Given the description of an element on the screen output the (x, y) to click on. 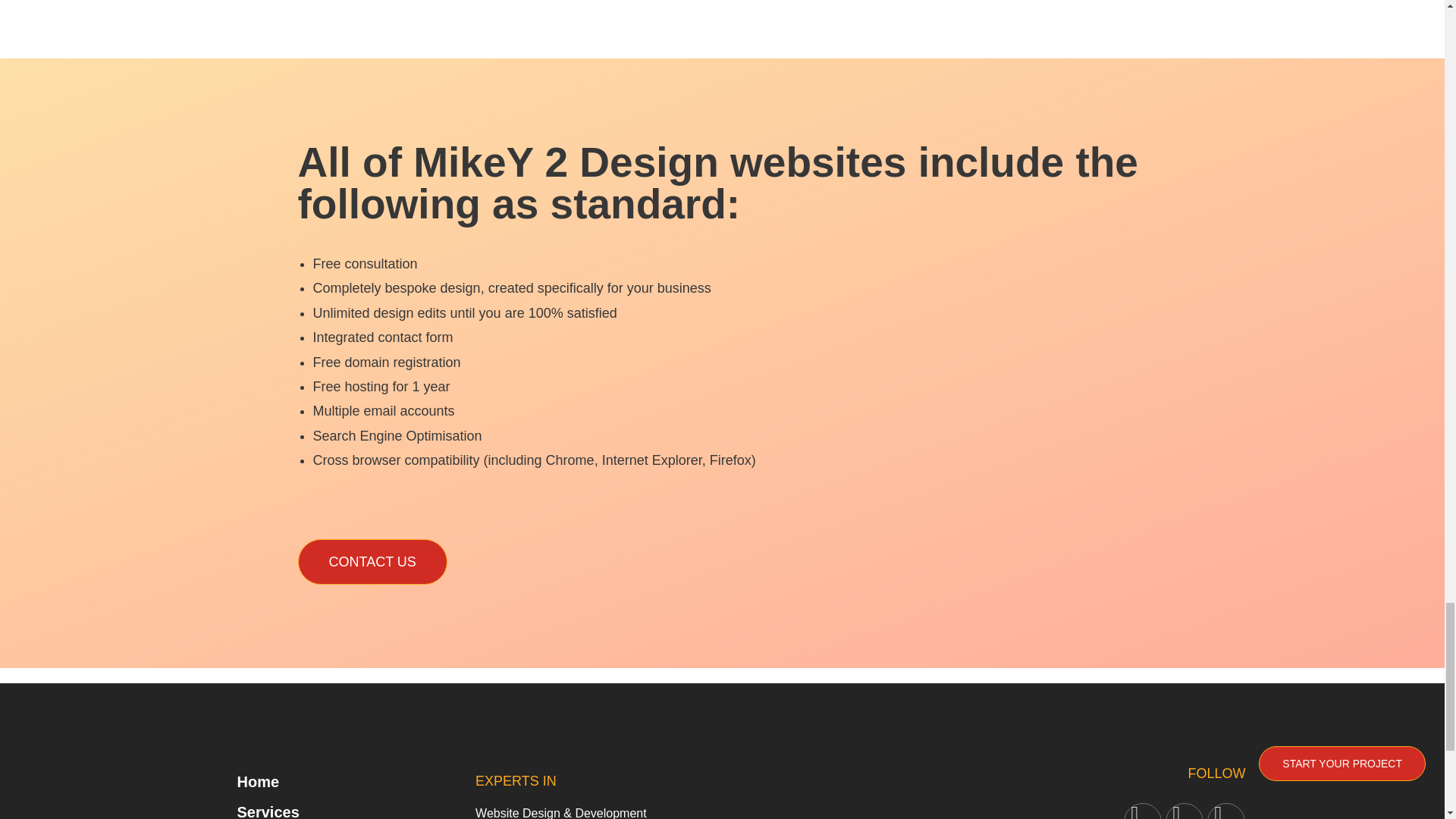
Services (325, 807)
CONTACT US (371, 561)
Home (325, 781)
